Given the description of an element on the screen output the (x, y) to click on. 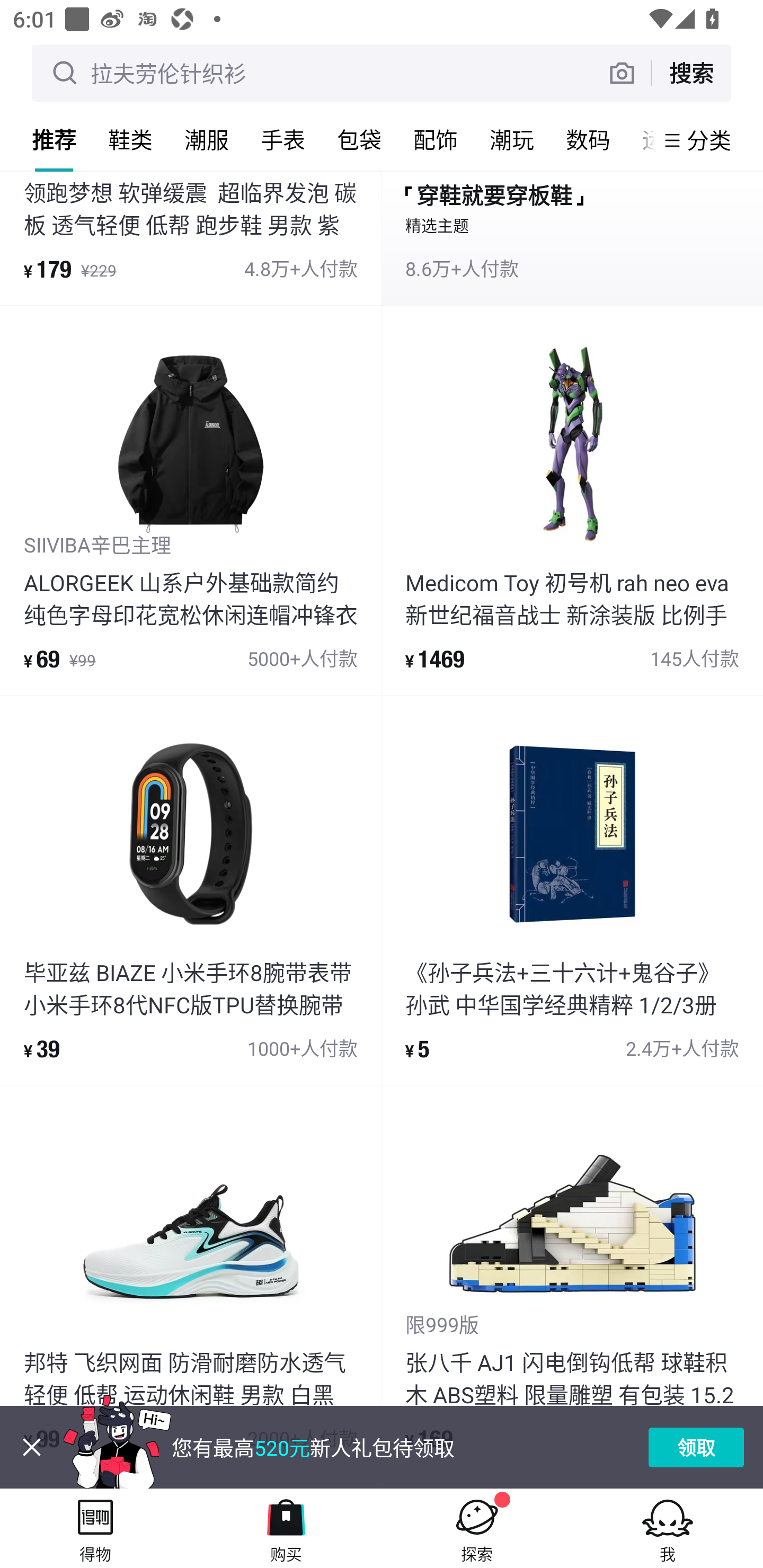
搜索 (690, 72)
推荐 (54, 139)
鞋类 (130, 139)
潮服 (206, 139)
手表 (282, 139)
包袋 (359, 139)
配饰 (435, 139)
潮玩 (511, 139)
数码 (588, 139)
分类 (708, 139)
穿鞋就要穿板鞋 精选主题 8.6万+人付款 (572, 237)
领取 (695, 1446)
得物 (95, 1528)
购买 (285, 1528)
探索 (476, 1528)
我 (667, 1528)
